Given the description of an element on the screen output the (x, y) to click on. 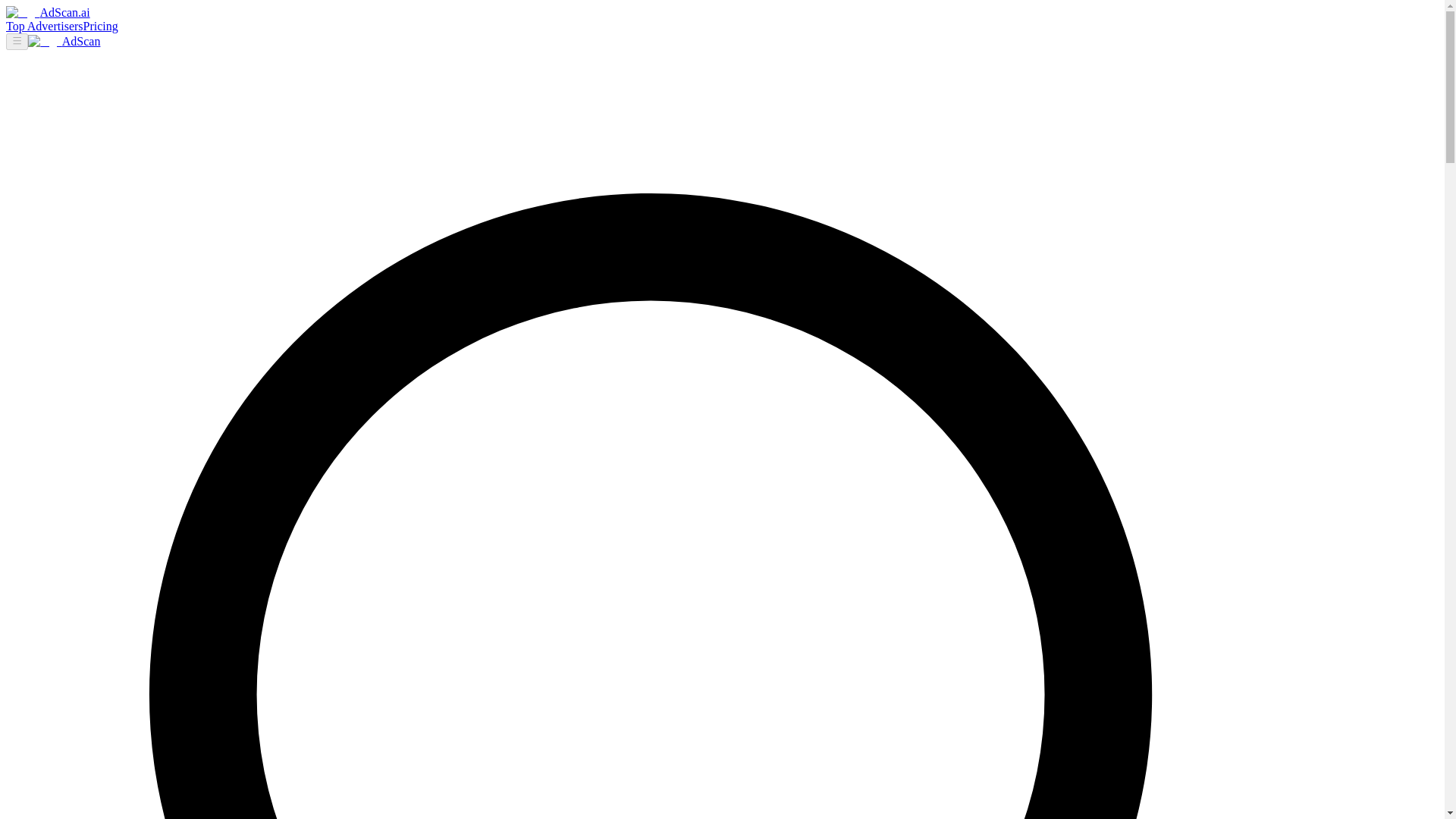
Top Advertisers (43, 25)
AdScan (63, 41)
Pricing (99, 25)
AdScan.ai (47, 11)
